Given the description of an element on the screen output the (x, y) to click on. 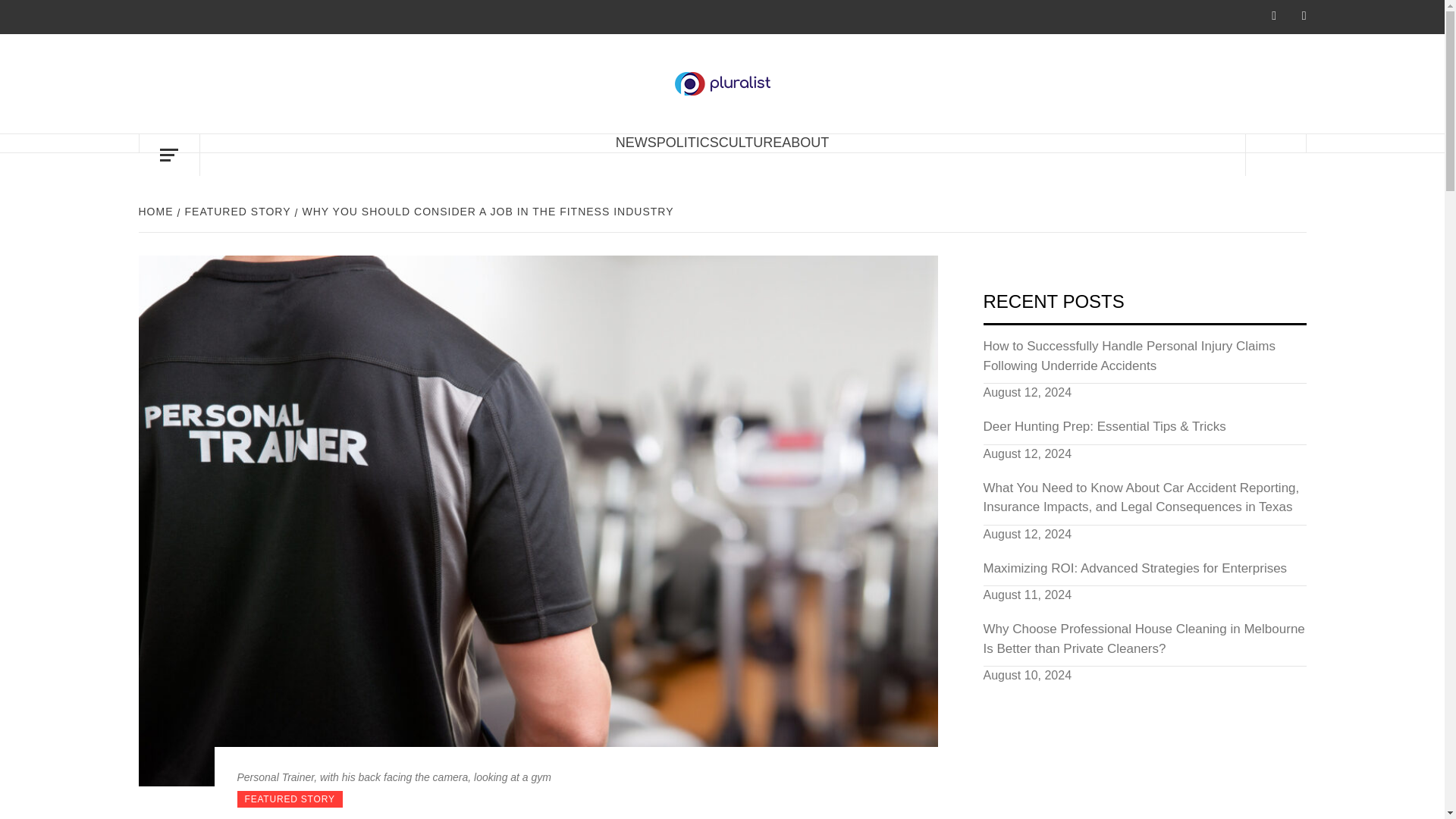
POLITICS (687, 142)
CULTURE (751, 142)
ABOUT (804, 142)
PLURALIST (872, 95)
NEWS (635, 142)
WHY YOU SHOULD CONSIDER A JOB IN THE FITNESS INDUSTRY (486, 211)
Maximizing ROI: Advanced Strategies for Enterprises (1144, 572)
HOME (157, 211)
FEATURED STORY (236, 211)
